Given the description of an element on the screen output the (x, y) to click on. 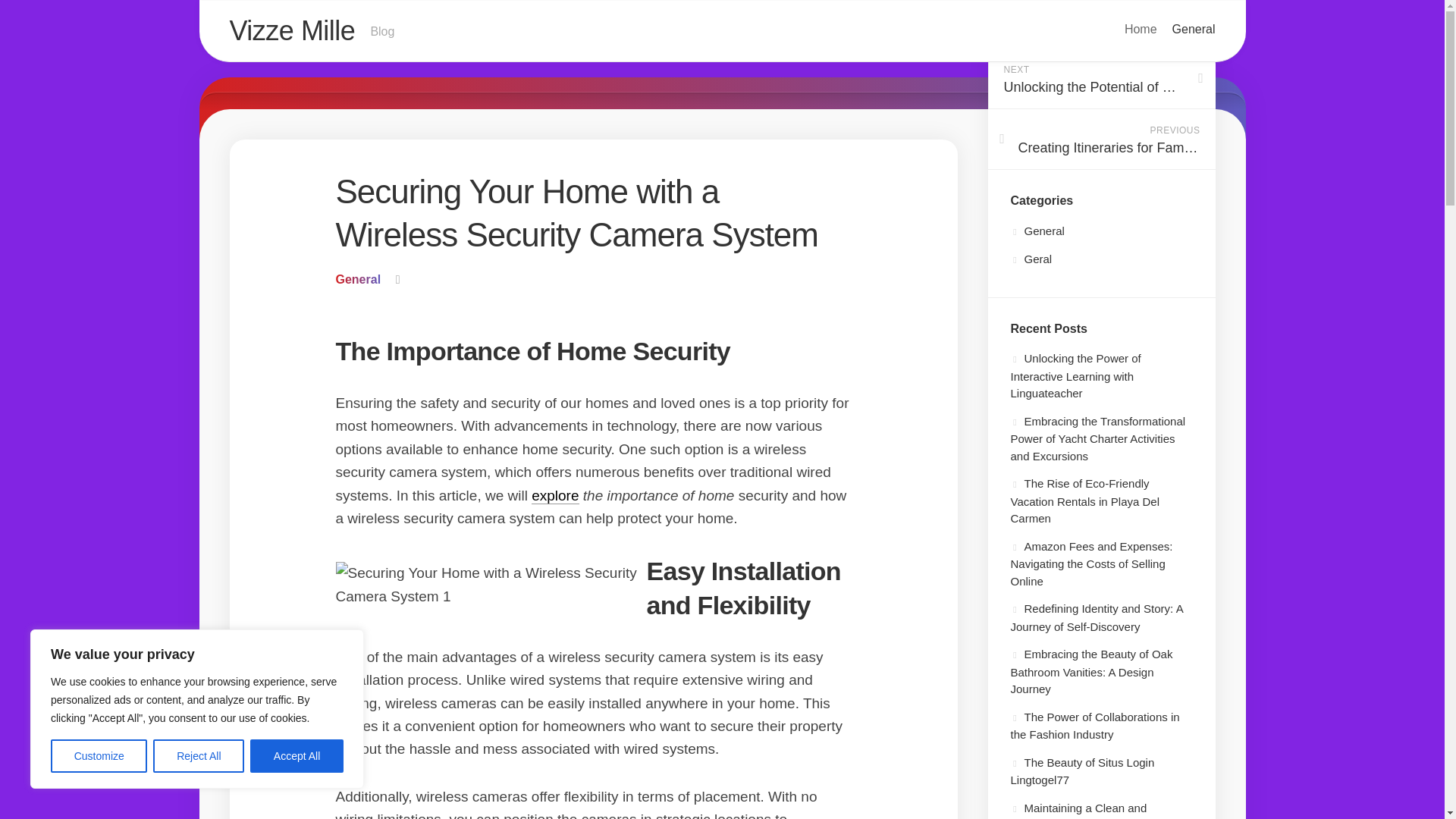
Customize (1100, 78)
Geral (98, 756)
explore (1030, 258)
Vizze Mille (554, 495)
General (291, 31)
General (357, 278)
Accept All (1193, 29)
Reject All (296, 756)
General (198, 756)
Home (1037, 230)
